Given the description of an element on the screen output the (x, y) to click on. 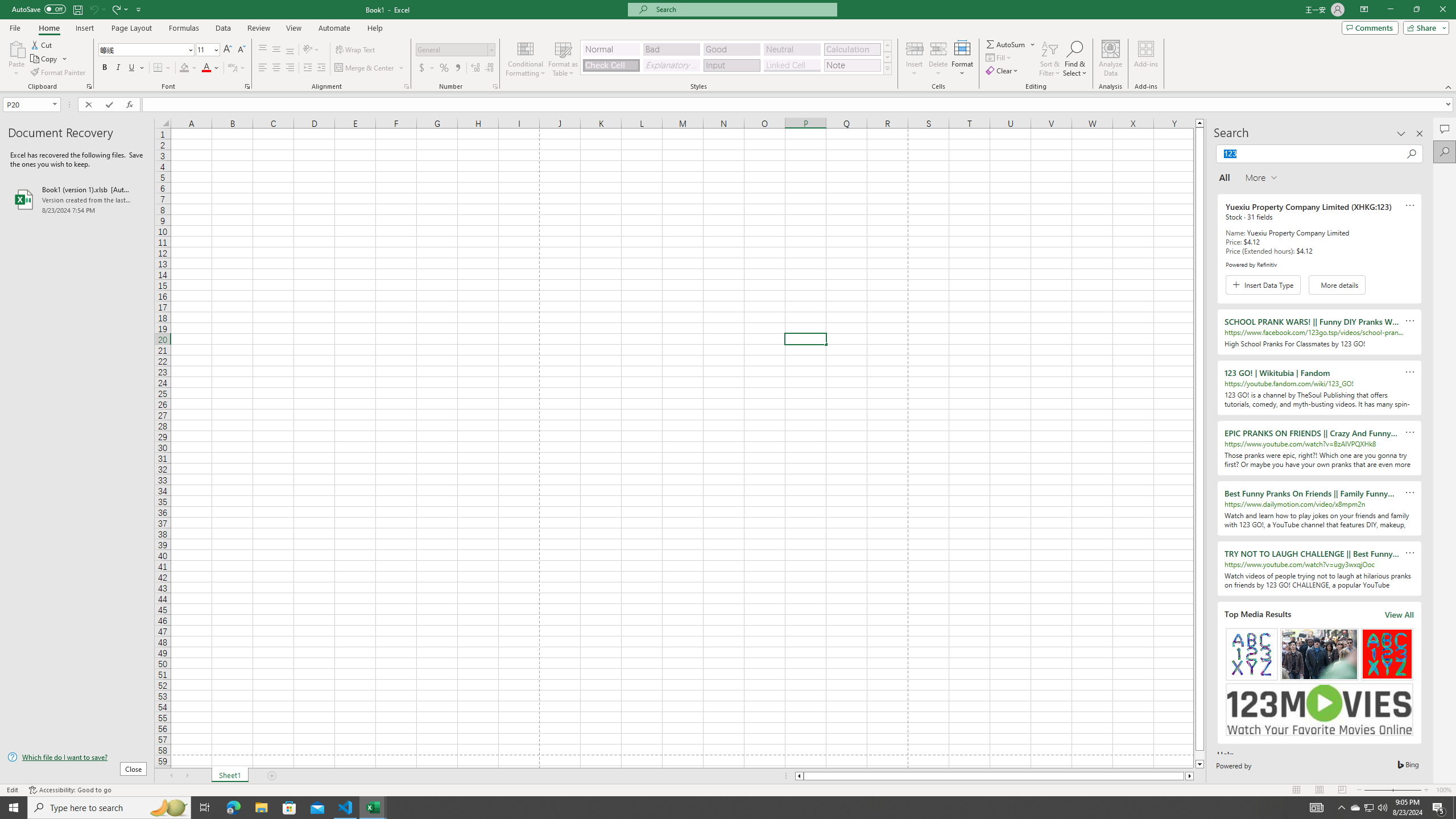
Which file do I want to save? (77, 757)
Paste (16, 58)
Format as Table (563, 58)
Class: NetUIImage (887, 68)
Comma Style (457, 67)
Neutral (791, 49)
Orientation (311, 49)
